Given the description of an element on the screen output the (x, y) to click on. 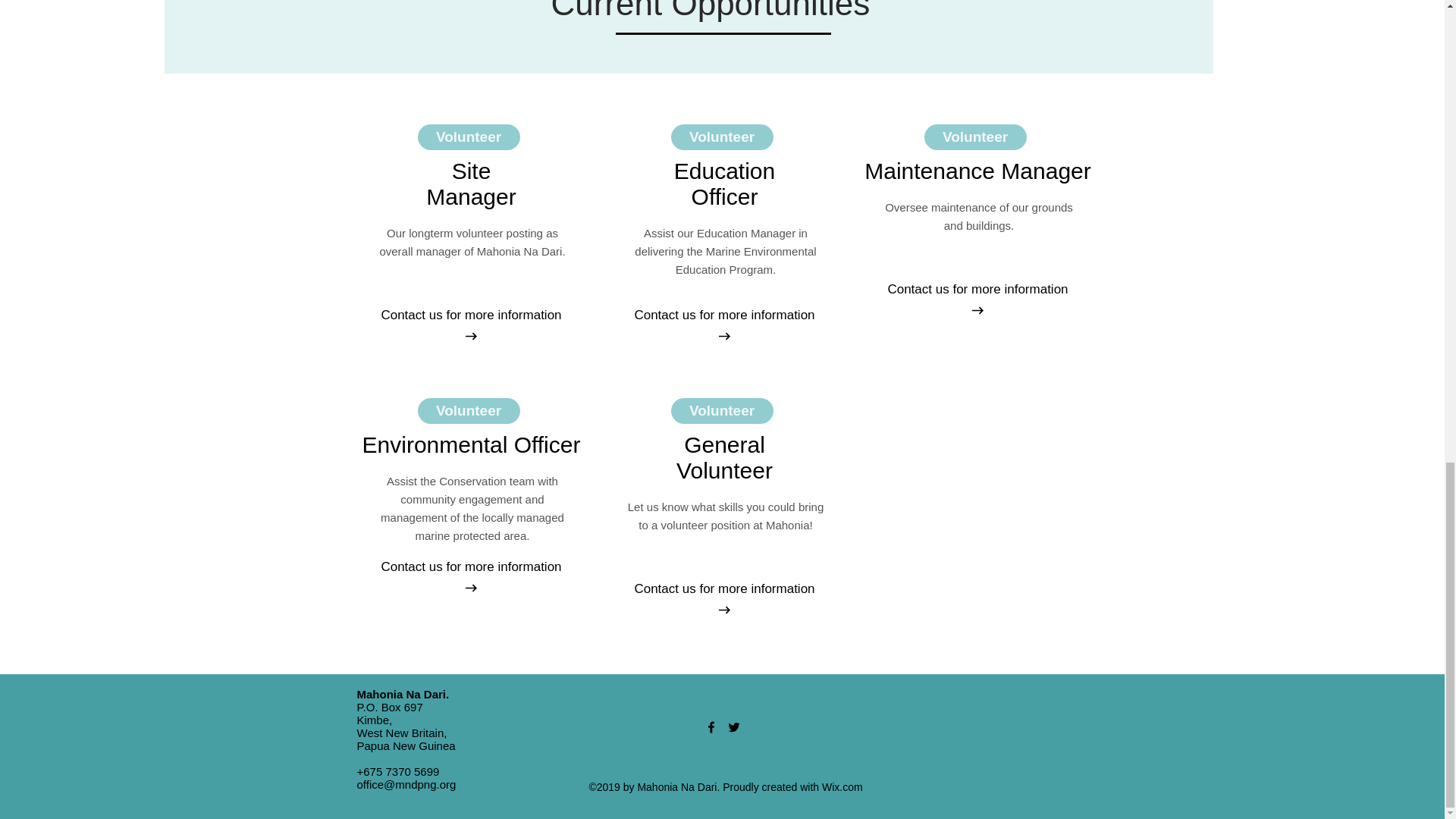
Contact us for more information (470, 315)
Contact us for more information (723, 588)
Contact us for more information (470, 566)
Contact us for more information (723, 315)
Contact us for more information (976, 289)
